Given the description of an element on the screen output the (x, y) to click on. 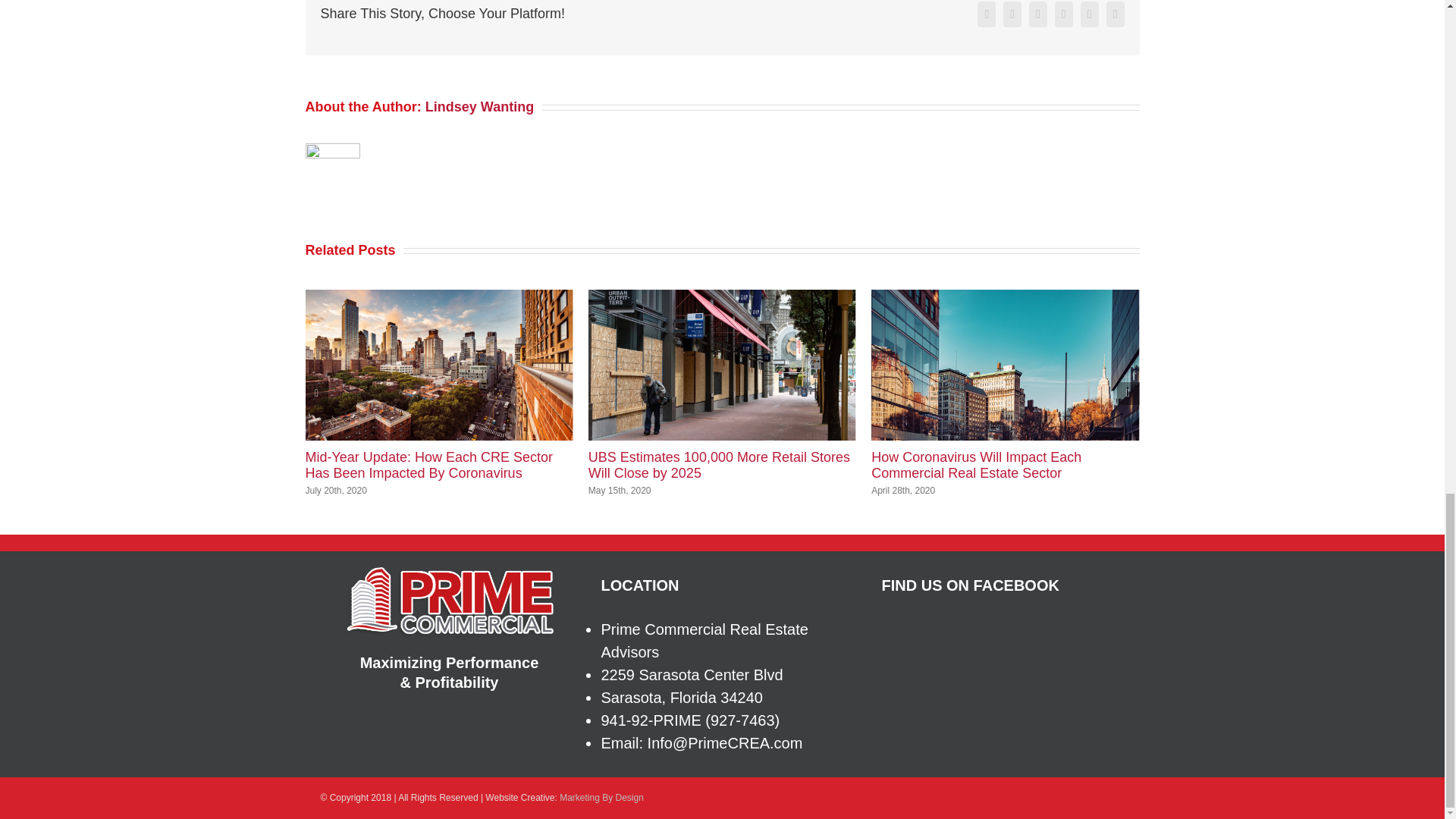
UBS Estimates 100,000 More Retail Stores Will Close by 2025 (719, 465)
Lindsey Wanting (479, 106)
Posts by Lindsey Wanting (479, 106)
